Given the description of an element on the screen output the (x, y) to click on. 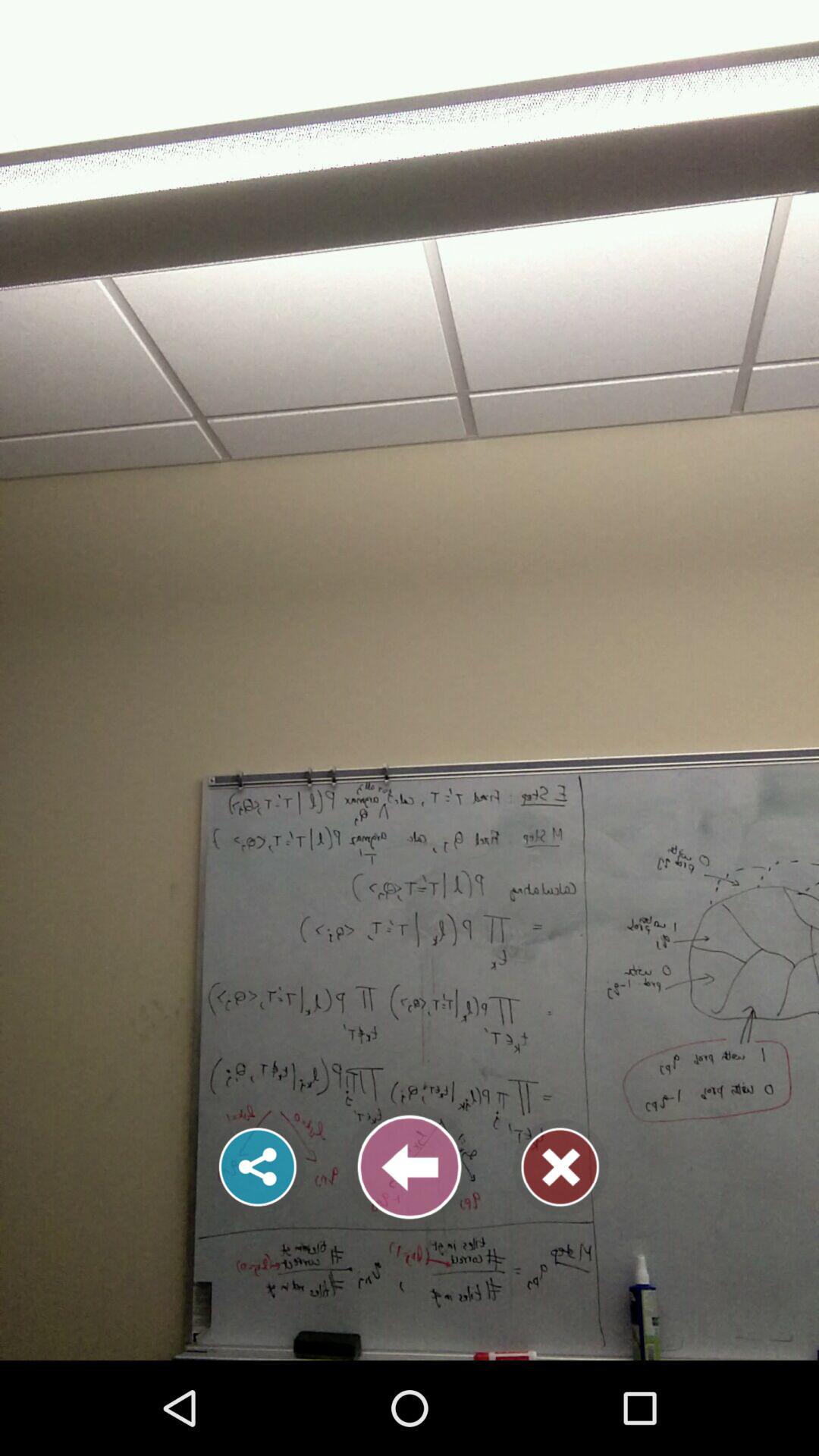
close the image (560, 1166)
